Given the description of an element on the screen output the (x, y) to click on. 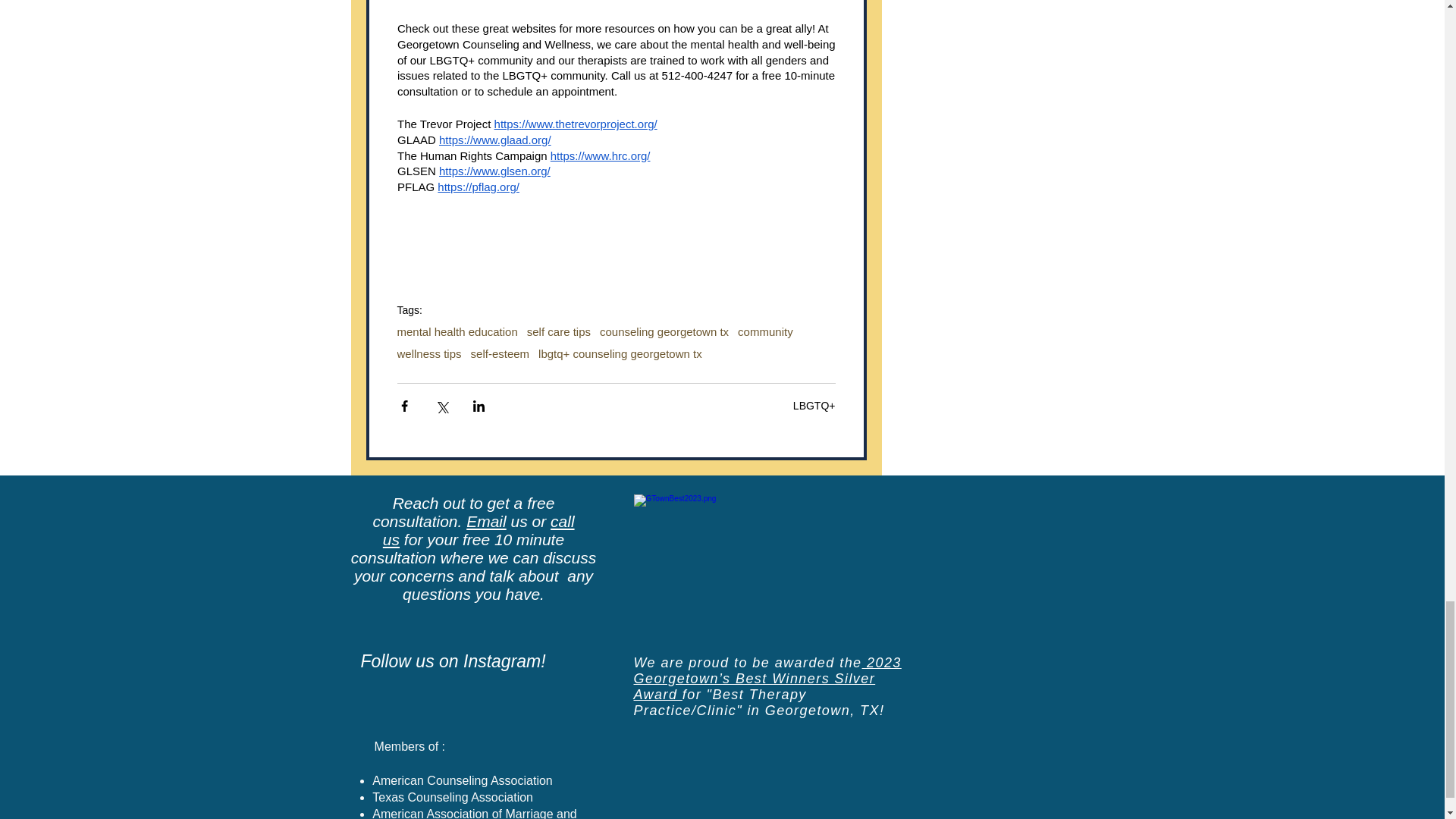
self-esteem (499, 353)
mental health education (457, 331)
wellness tips (429, 353)
counseling georgetown tx (664, 331)
community (765, 331)
self care tips (559, 331)
